Given the description of an element on the screen output the (x, y) to click on. 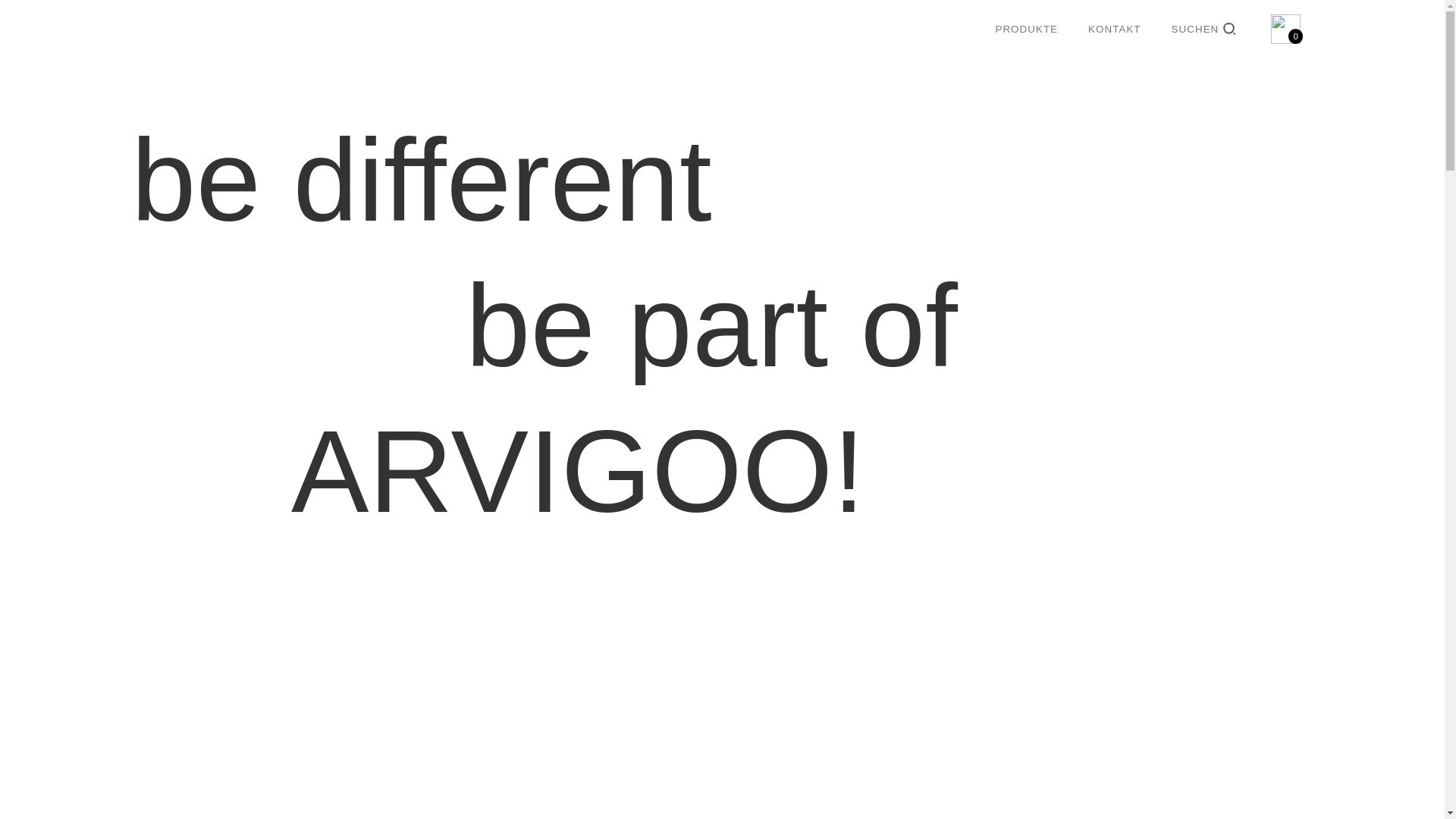
KONTAKT Element type: text (1114, 28)
PRODUKTE Element type: text (1026, 28)
0 Element type: text (1284, 28)
